Given the description of an element on the screen output the (x, y) to click on. 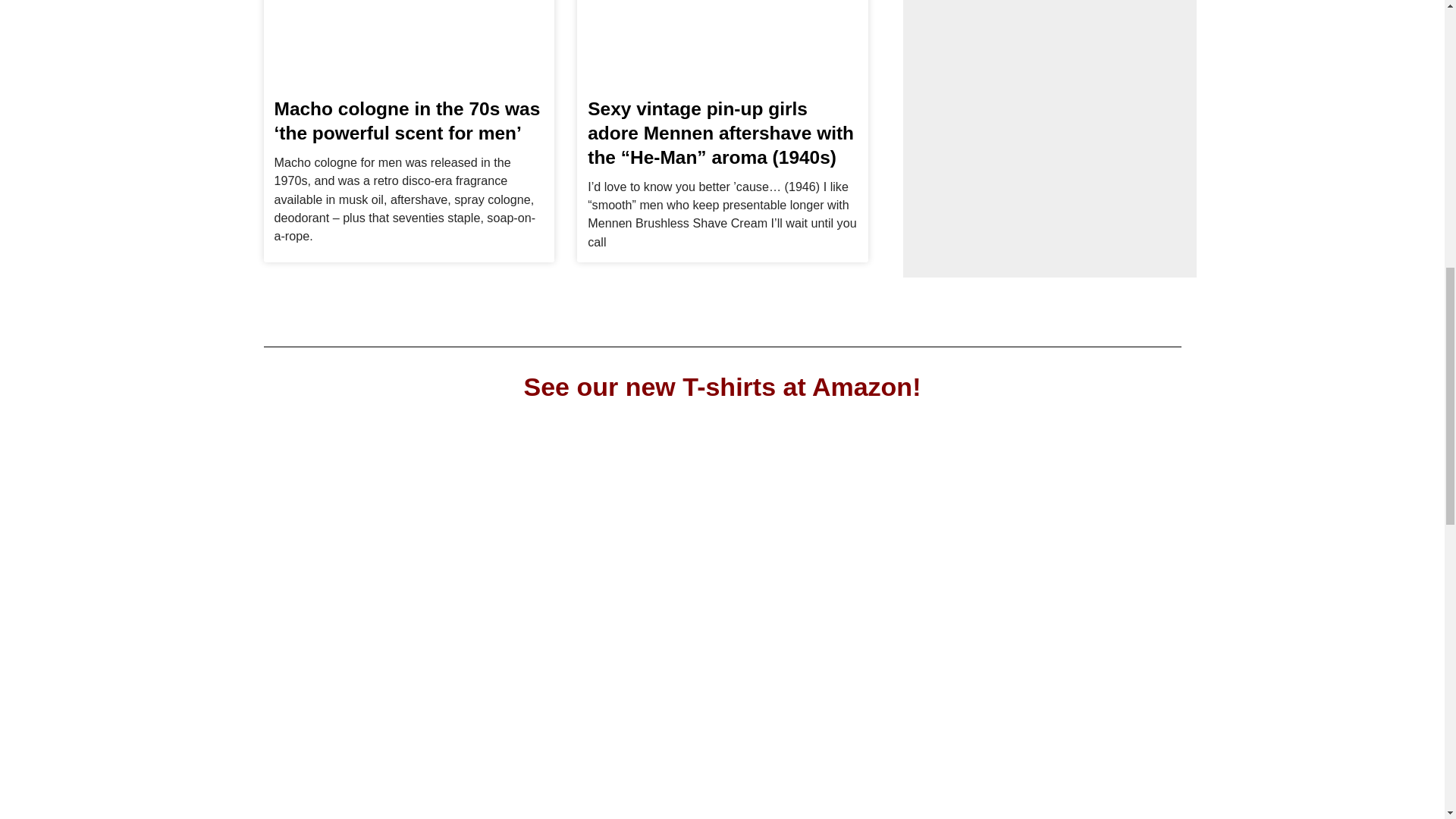
Vintage-look ARIZONA sunset distressed look T-Shirt (1074, 626)
Vintage-look HAWAII sunset distressed look T-Shirt (839, 626)
